Given the description of an element on the screen output the (x, y) to click on. 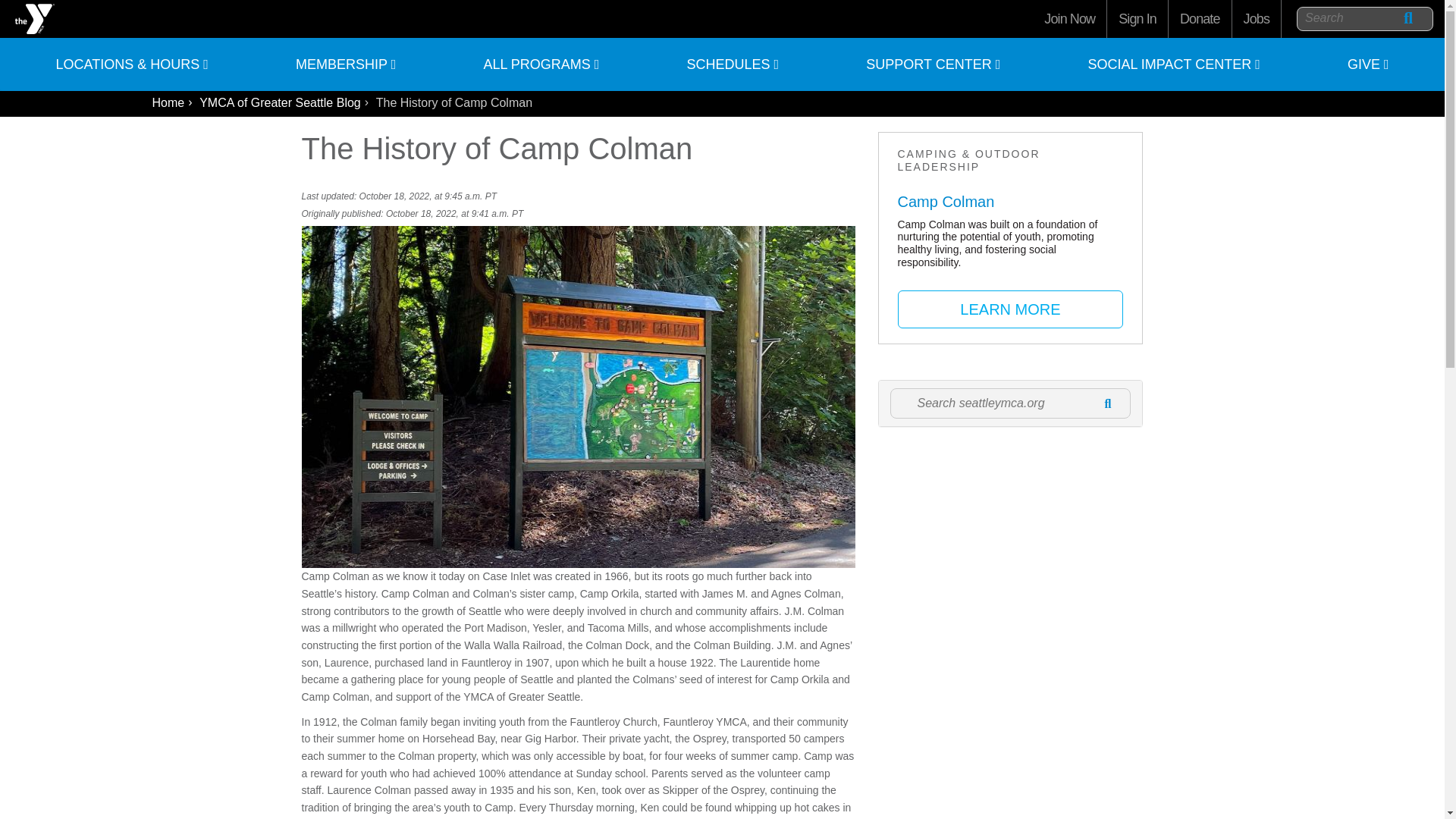
Donate to the YMCA of Greater Seattle (1200, 18)
